Given the description of an element on the screen output the (x, y) to click on. 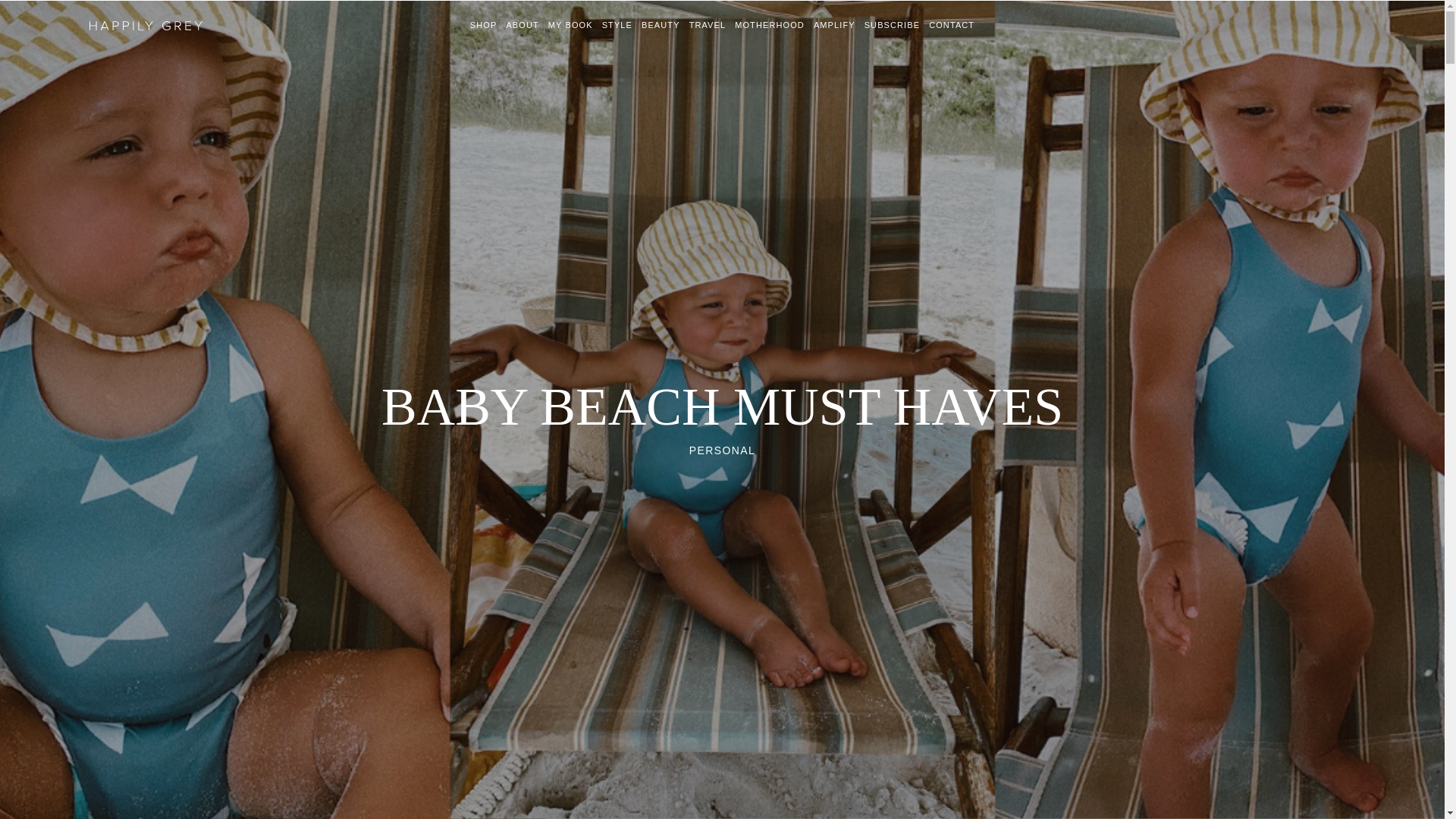
Happily Grey (145, 19)
SUBSCRIBE (892, 24)
CONTACT (951, 24)
MOTHERHOOD (770, 24)
MY BOOK (570, 24)
